Given the description of an element on the screen output the (x, y) to click on. 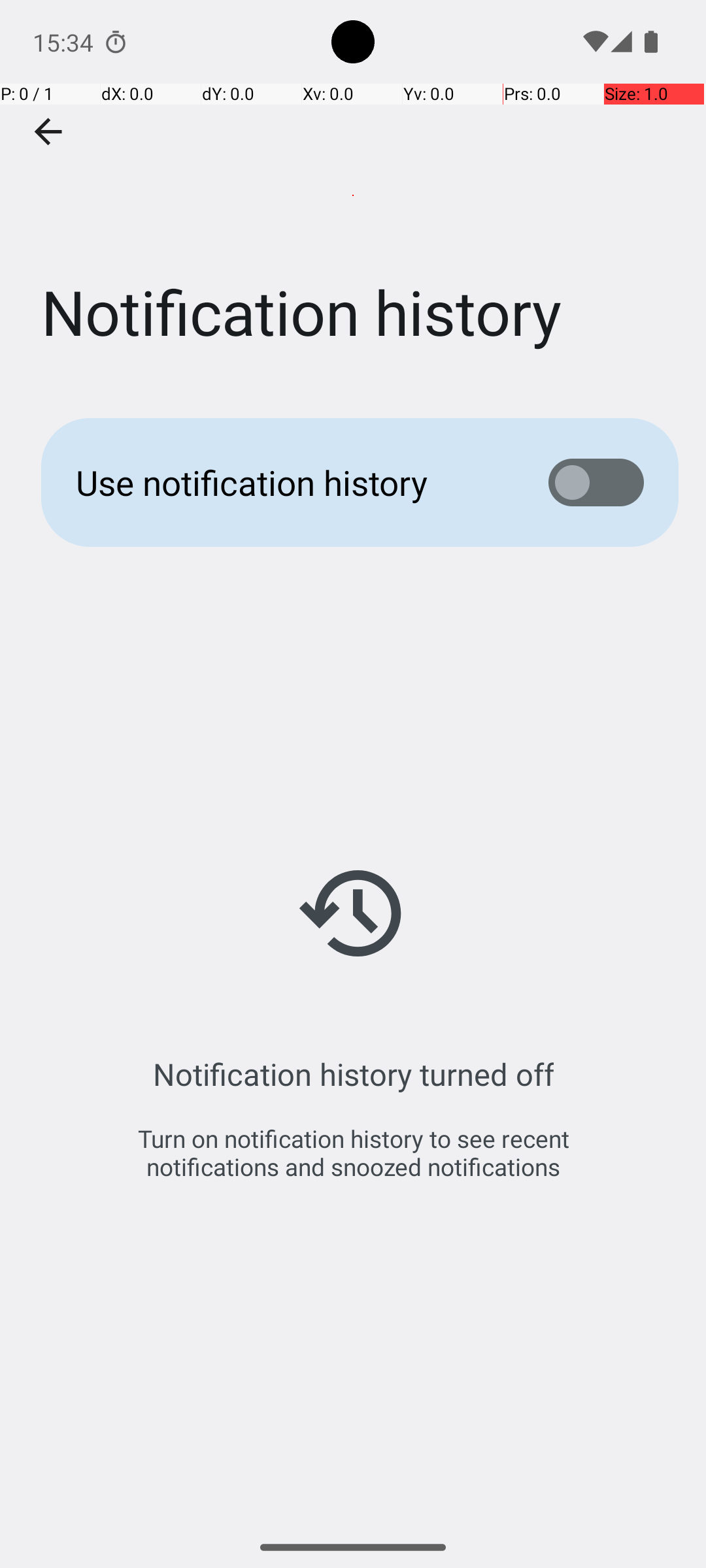
Notification history turned off Element type: android.widget.TextView (352, 1073)
Turn on notification history to see recent notifications and snoozed notifications Element type: android.widget.TextView (352, 1152)
